Given the description of an element on the screen output the (x, y) to click on. 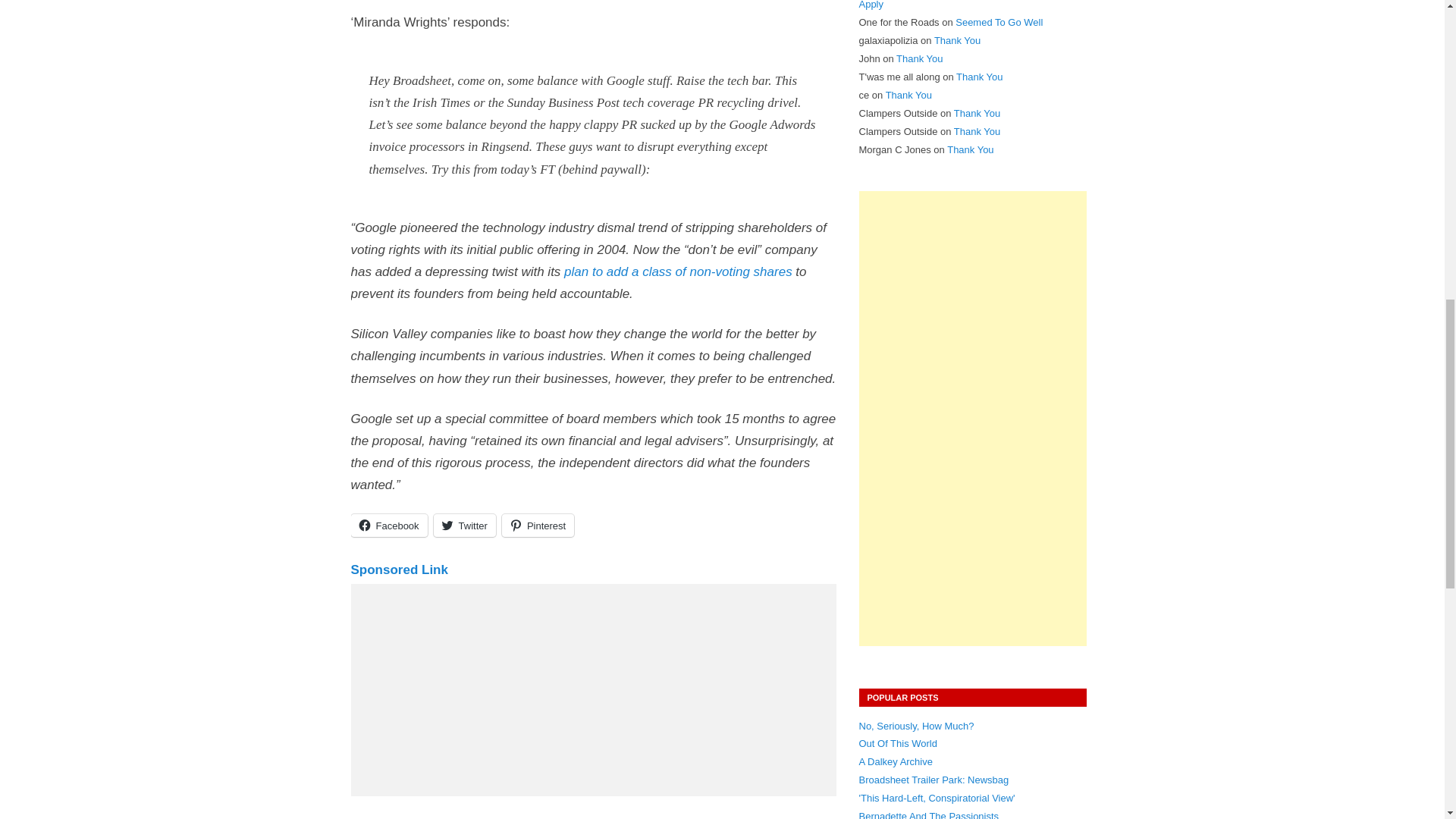
Facebook (388, 525)
Click to share on Pinterest (537, 525)
Click to share on Twitter (464, 525)
Click to share on Facebook (388, 525)
Pinterest (537, 525)
Twitter (464, 525)
